Given the description of an element on the screen output the (x, y) to click on. 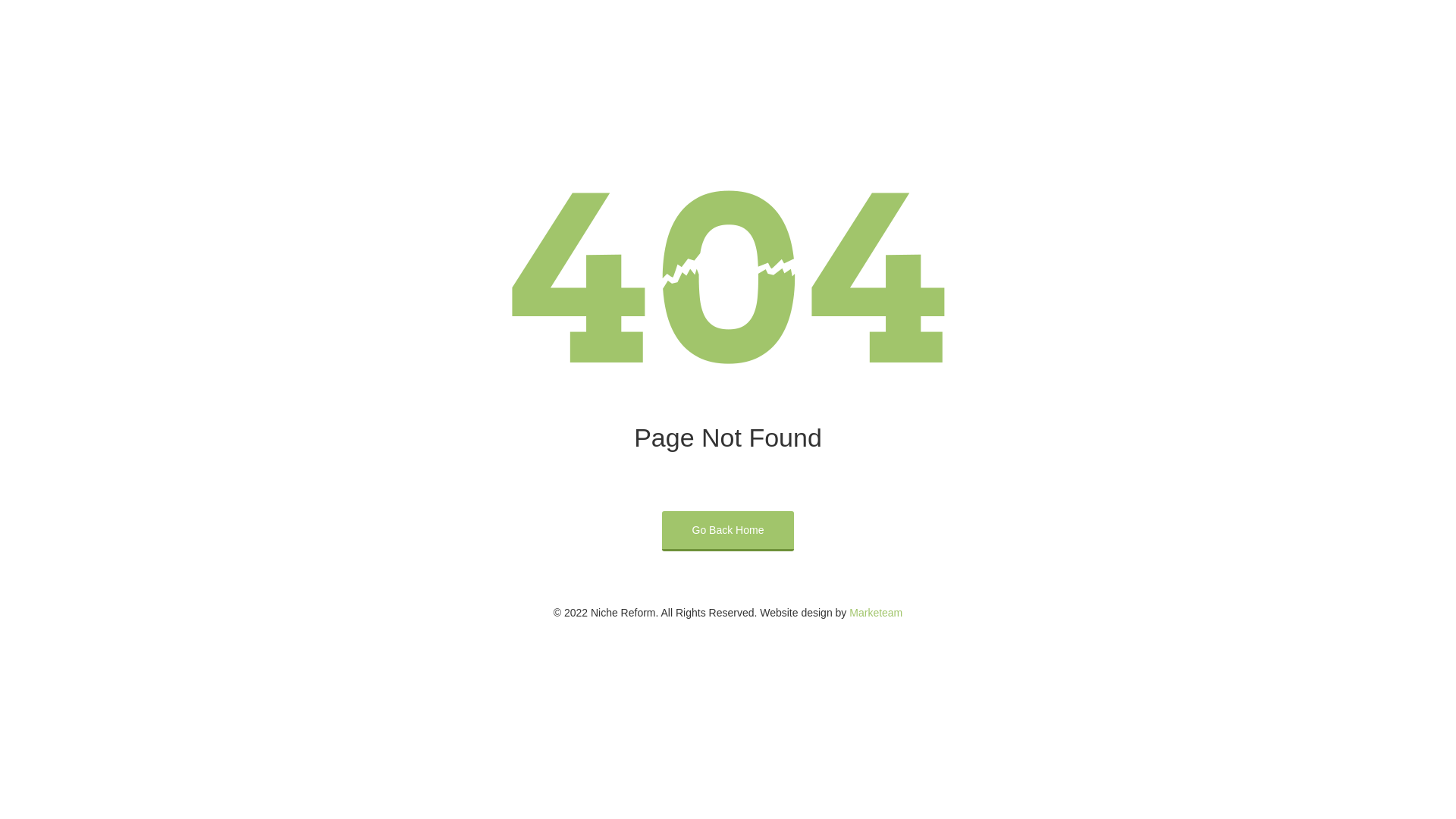
Go Back Home Element type: text (728, 531)
Marketeam Element type: text (875, 612)
